Given the description of an element on the screen output the (x, y) to click on. 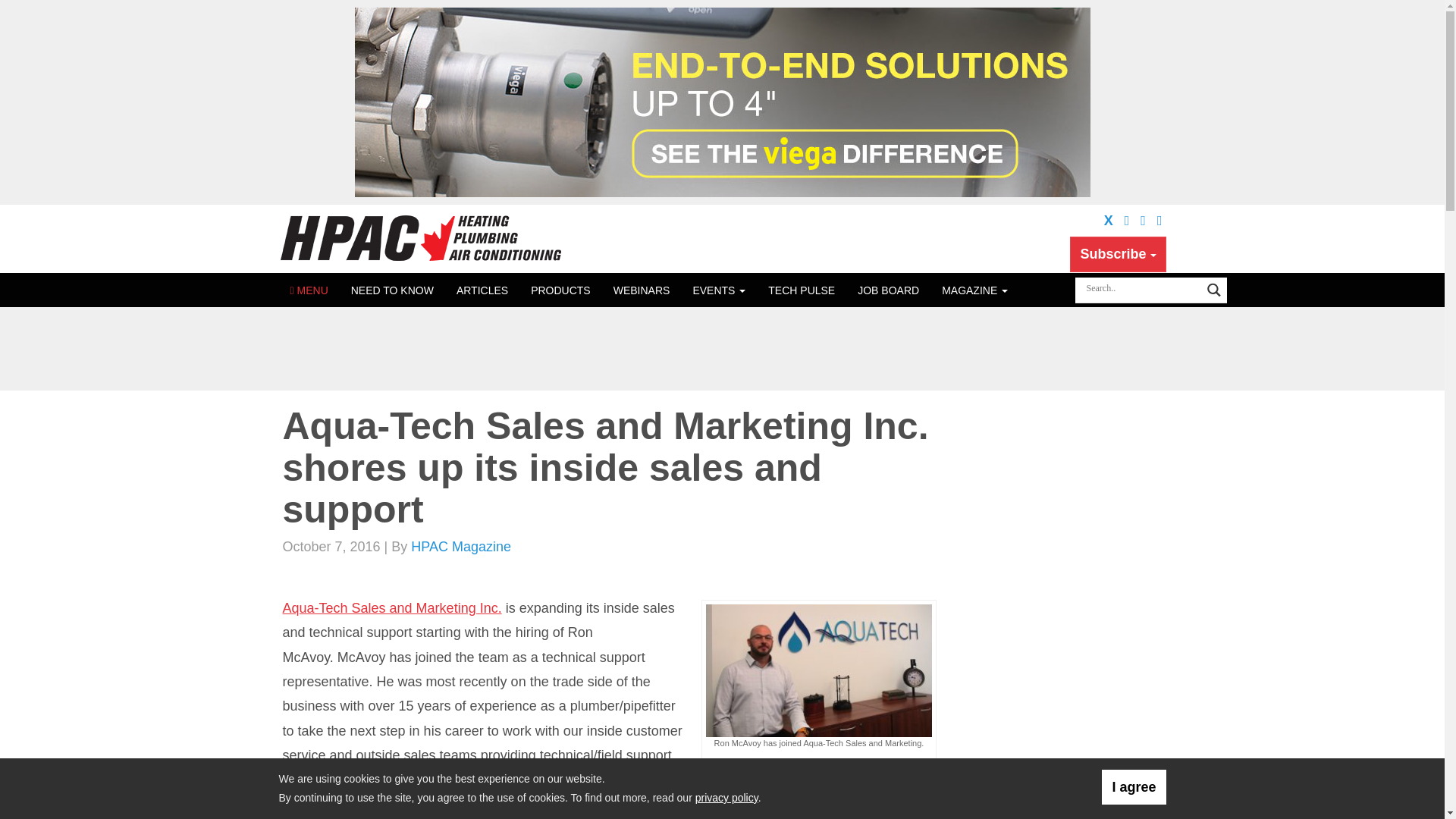
WEBINARS (641, 289)
Subscribe (1118, 253)
PRODUCTS (560, 289)
HPAC Magazine (421, 237)
3rd party ad content (1060, 503)
JOB BOARD (887, 289)
EVENTS (719, 289)
3rd party ad content (721, 348)
TECH PULSE (801, 289)
3rd party ad content (1060, 701)
NEED TO KNOW (392, 289)
MAGAZINE (974, 289)
3rd party ad content (1060, 811)
ARTICLES (482, 289)
